Given the description of an element on the screen output the (x, y) to click on. 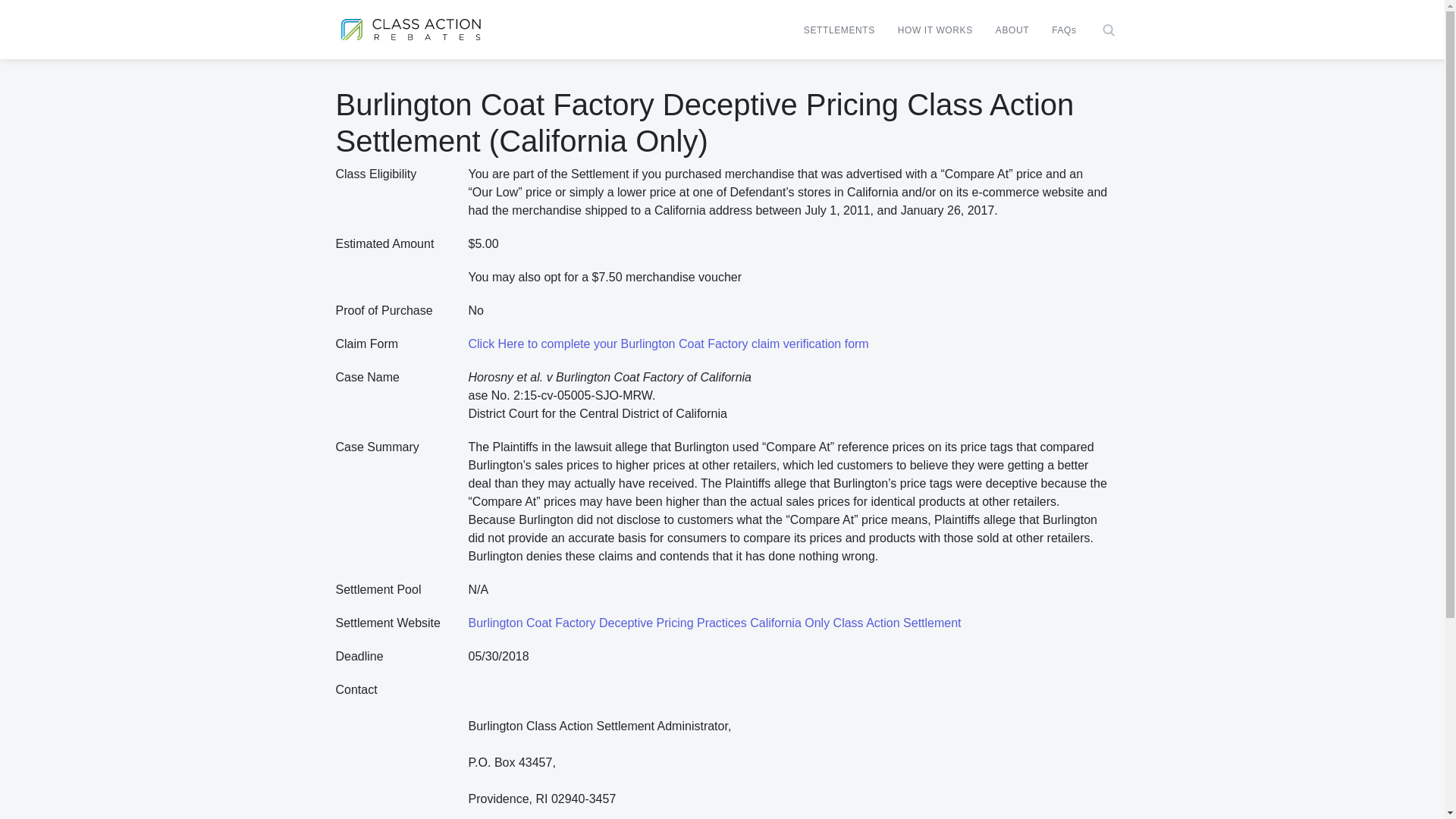
ABOUT (1012, 30)
SETTLEMENTS (839, 30)
Class Action Rebates Logo (410, 29)
FAQs (1064, 30)
HOW IT WORKS (935, 30)
